Given the description of an element on the screen output the (x, y) to click on. 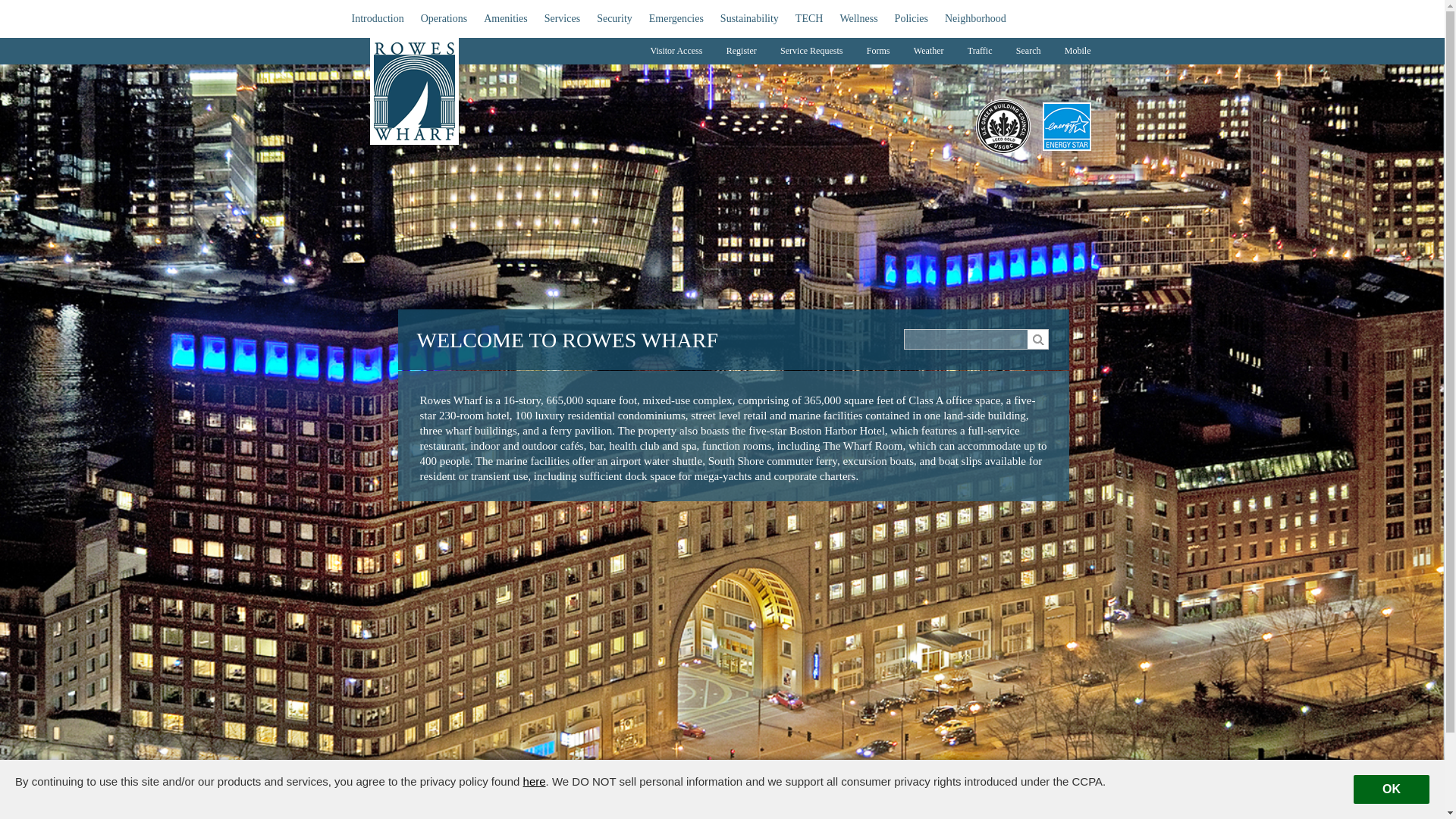
here (534, 780)
